Given the description of an element on the screen output the (x, y) to click on. 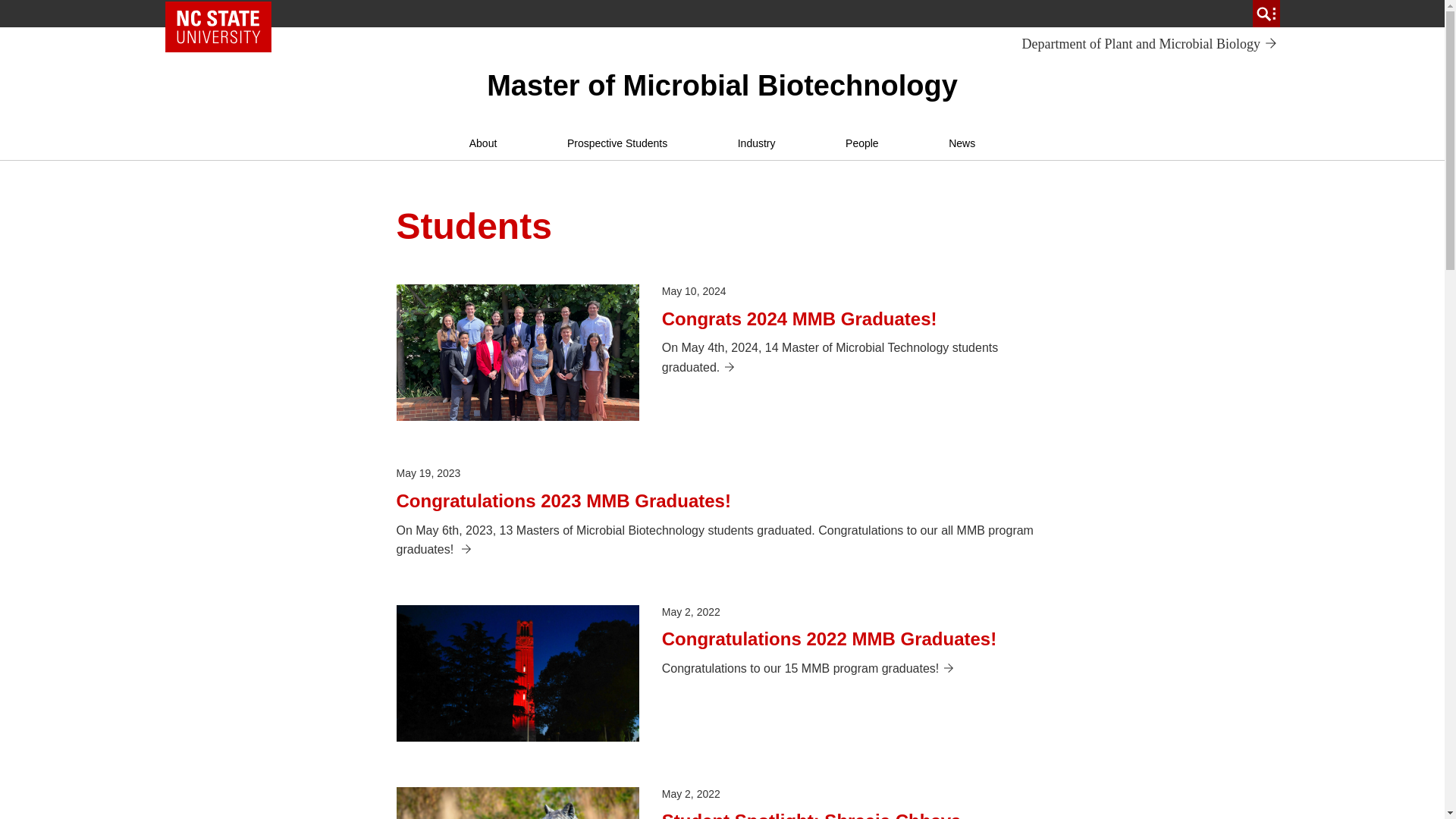
Master of Microbial Biotechnology (722, 85)
Industry (1150, 44)
About (756, 143)
Skip to main content (483, 143)
NC State Home (617, 143)
